Given the description of an element on the screen output the (x, y) to click on. 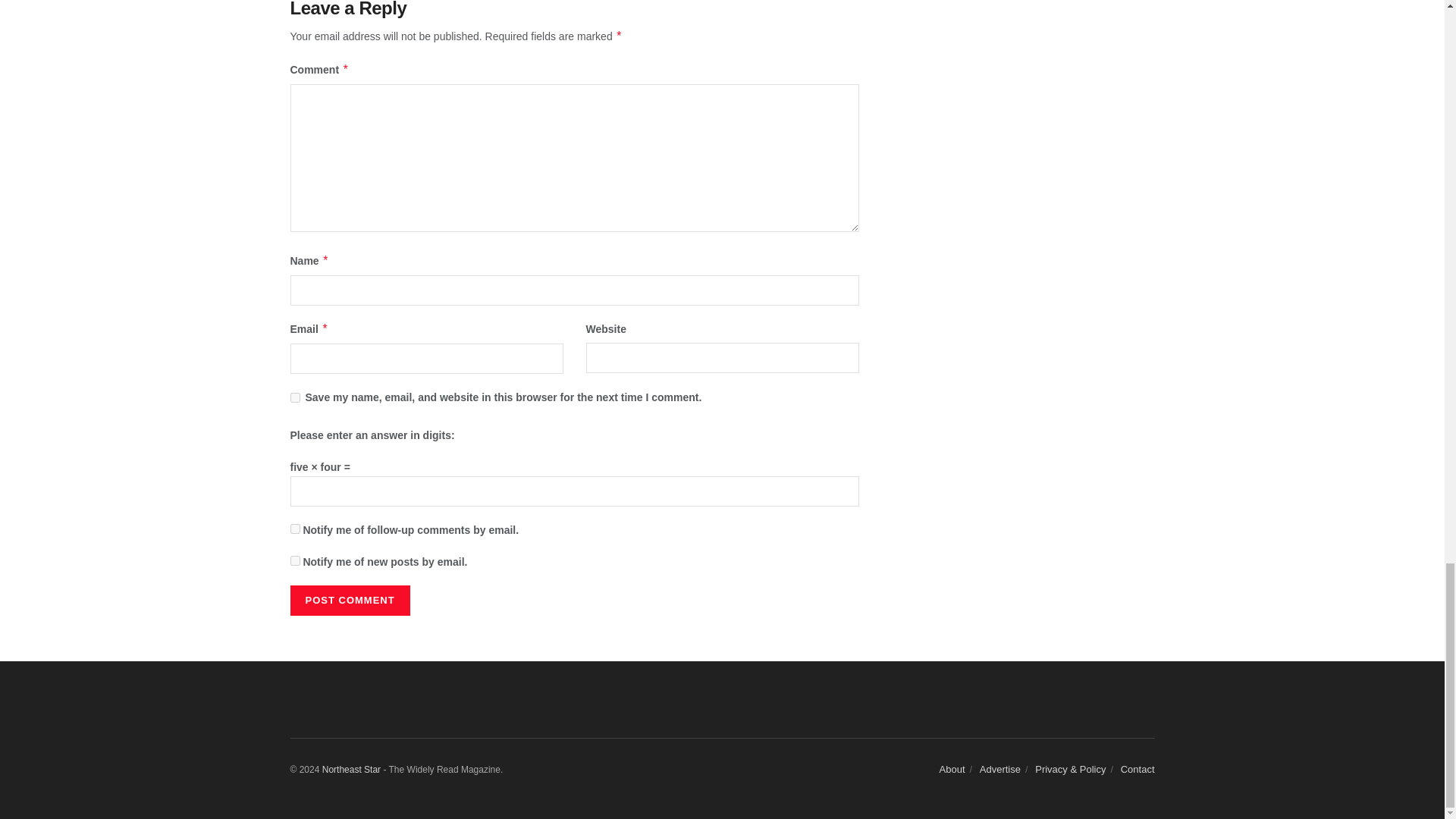
Post Comment (349, 600)
Northest Star (350, 769)
subscribe (294, 560)
subscribe (294, 528)
yes (294, 397)
